Given the description of an element on the screen output the (x, y) to click on. 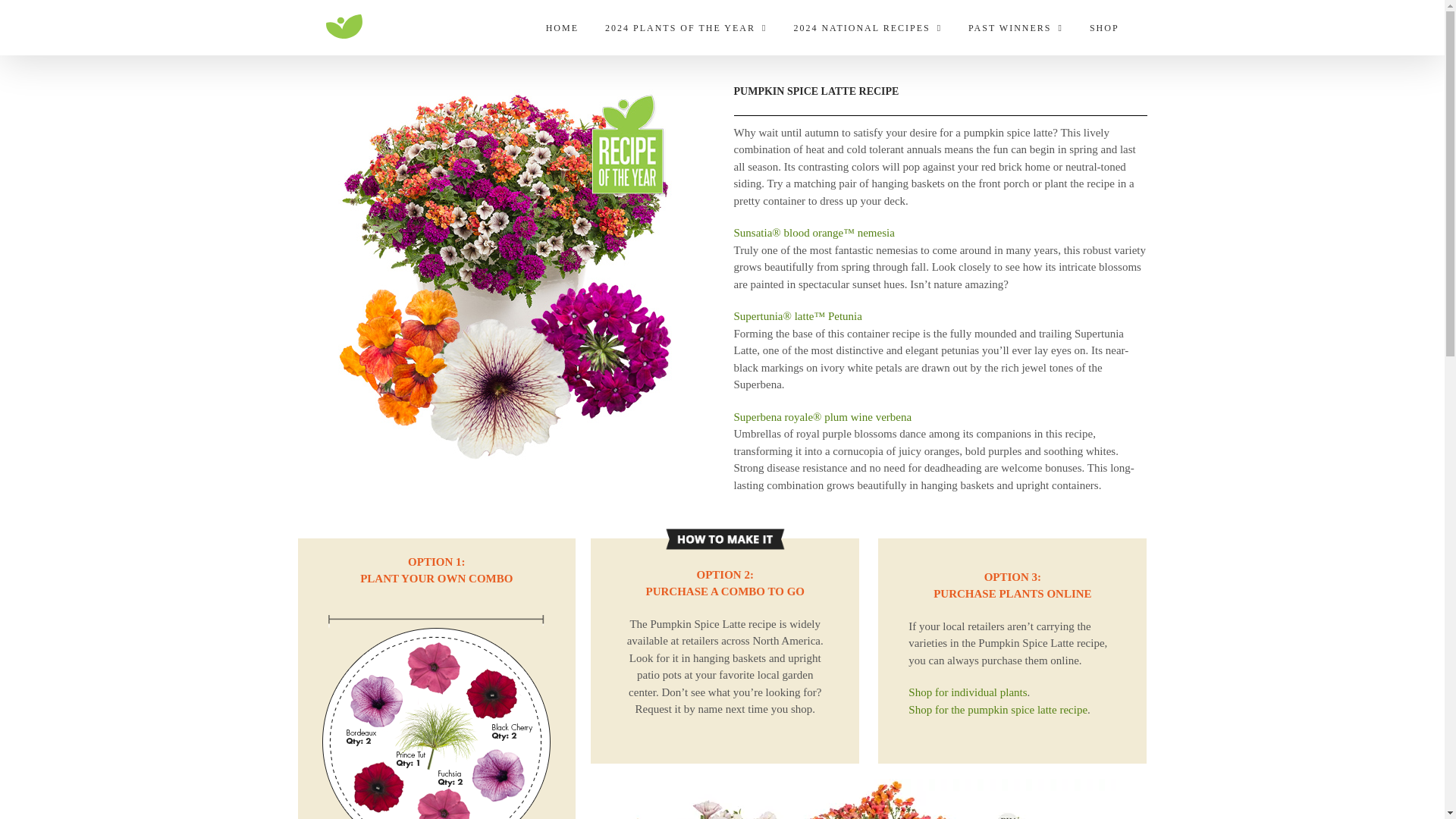
PAST WINNERS (1015, 27)
2024 NATIONAL RECIPES (867, 27)
2024 PLANTS OF THE YEAR (686, 27)
gtraverse-thr-diagram copy (435, 710)
